Given the description of an element on the screen output the (x, y) to click on. 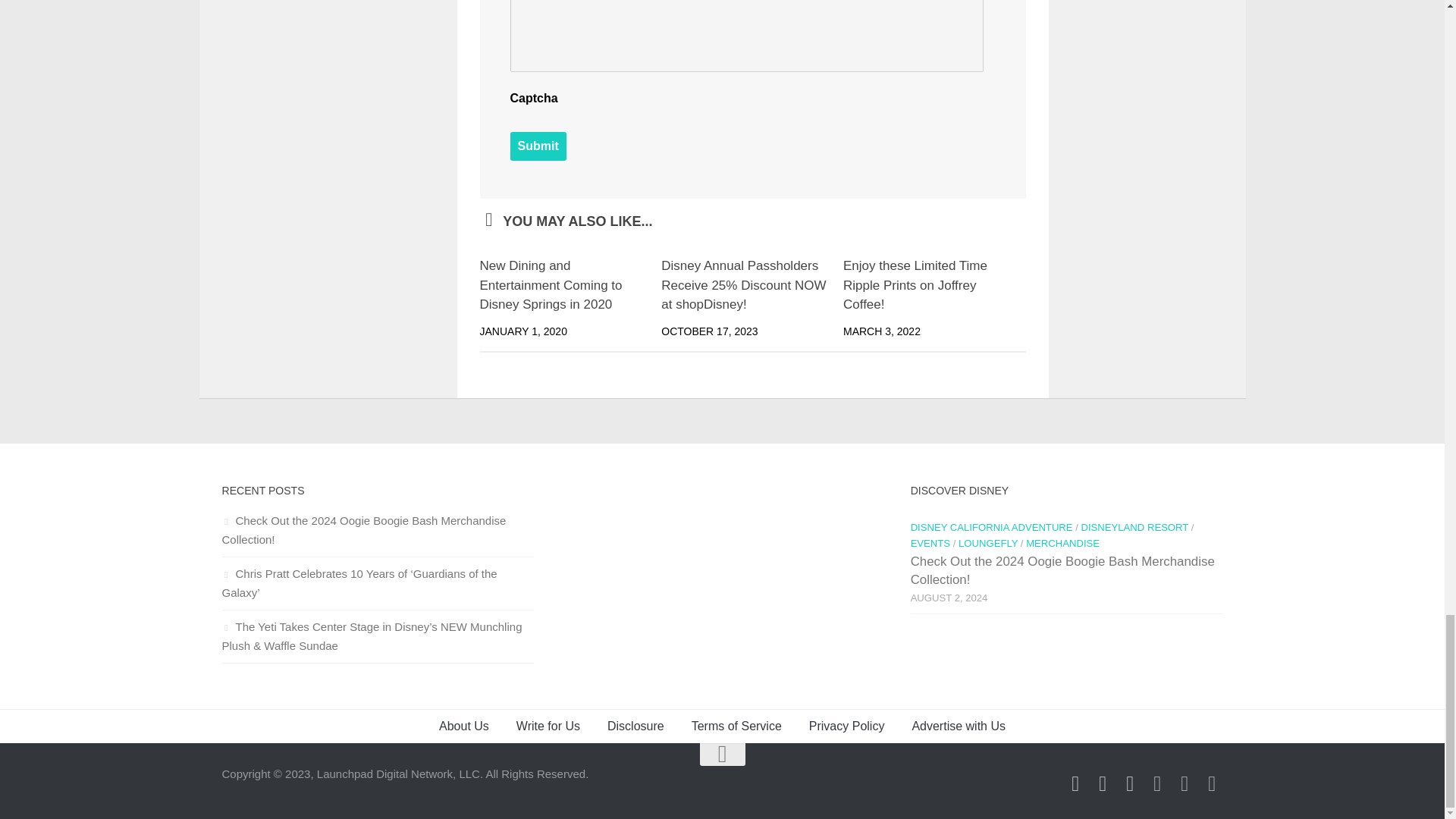
Submit (537, 145)
